Given the description of an element on the screen output the (x, y) to click on. 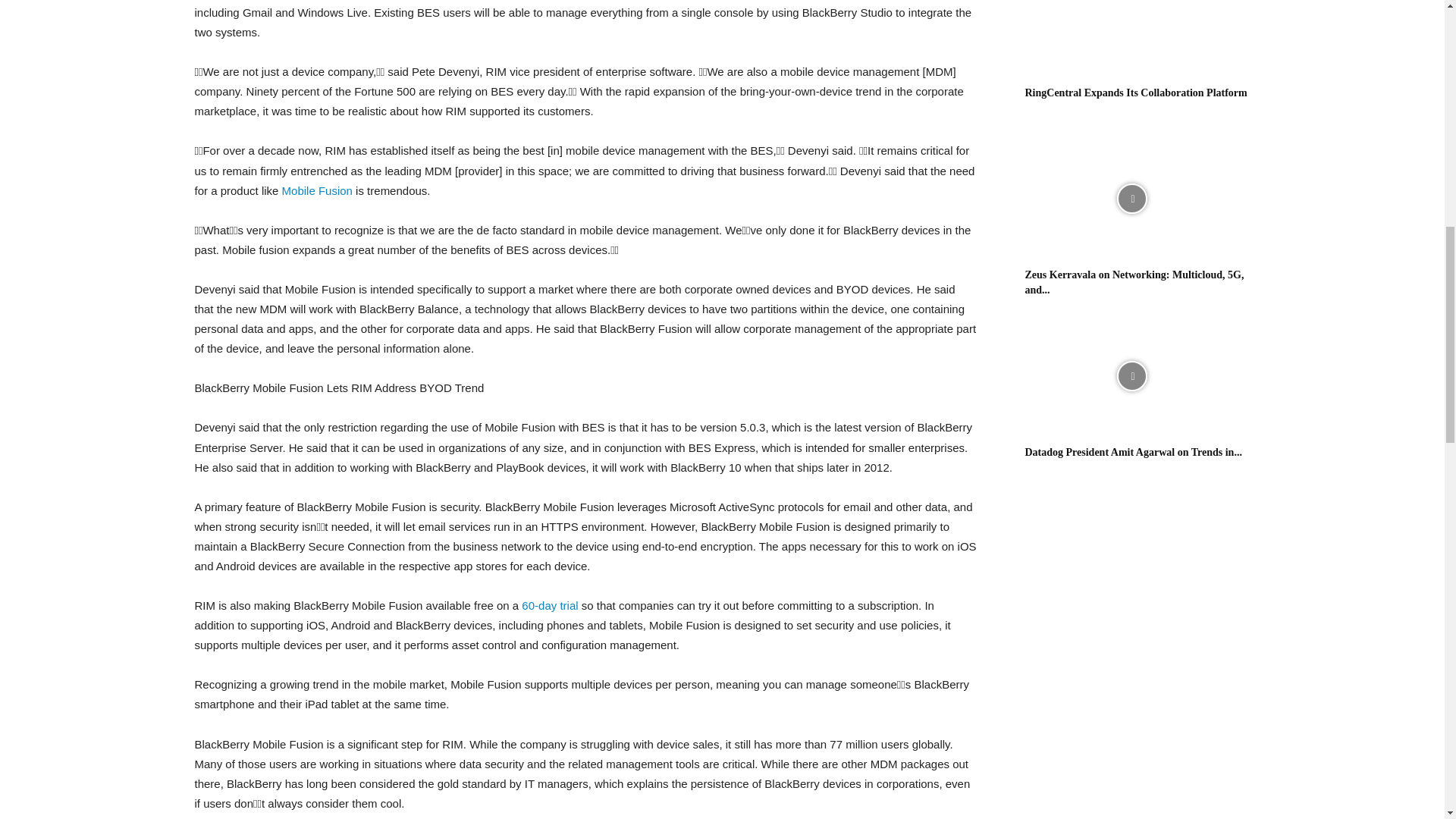
RingCentral Expands Its Collaboration Platform (1136, 92)
RingCentral Expands Its Collaboration Platform (1131, 38)
Zeus Kerravala on Networking: Multicloud, 5G, and Automation (1131, 198)
Zeus Kerravala on Networking: Multicloud, 5G, and Automation (1134, 282)
